Given the description of an element on the screen output the (x, y) to click on. 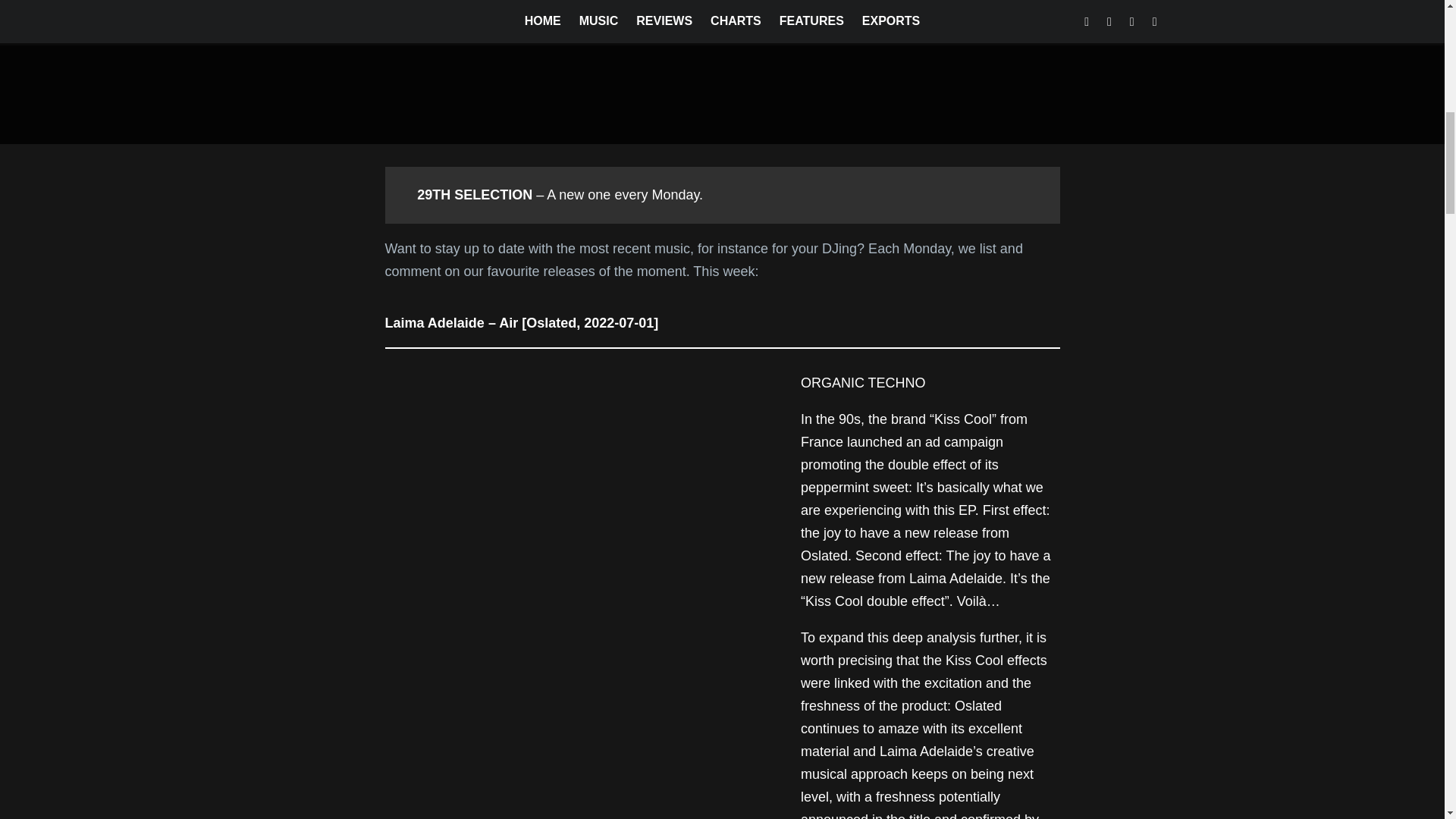
Oslated (978, 705)
Oslated (823, 555)
